Given the description of an element on the screen output the (x, y) to click on. 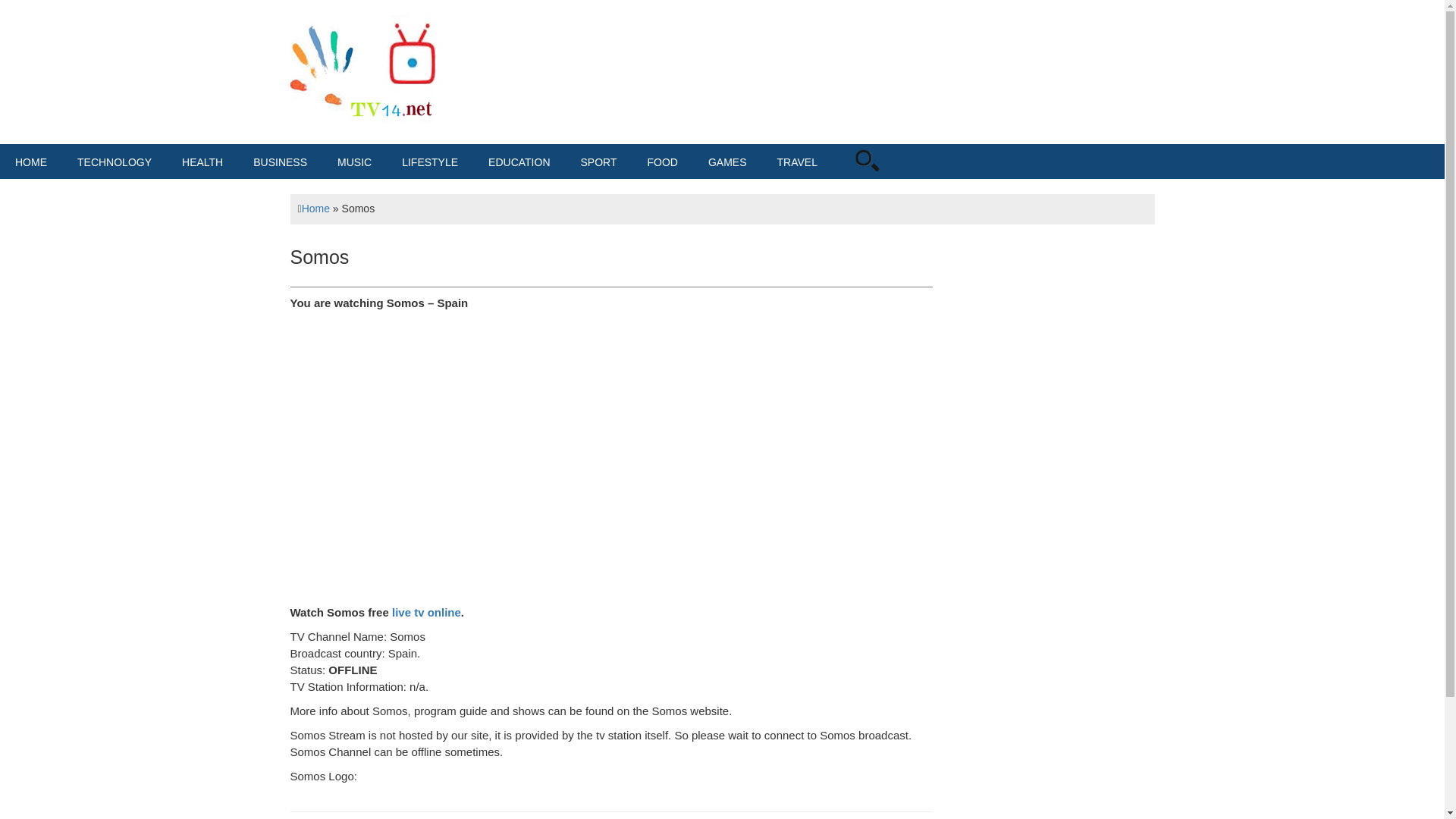
LIFESTYLE (430, 162)
Home (315, 208)
SPORT (598, 162)
HOME (31, 162)
BUSINESS (279, 162)
Search (887, 179)
MUSIC (354, 162)
TECHNOLOGY (114, 162)
TRAVEL (796, 162)
EDUCATION (518, 162)
FOOD (662, 162)
HEALTH (202, 162)
GAMES (727, 162)
live tv online (426, 612)
